Given the description of an element on the screen output the (x, y) to click on. 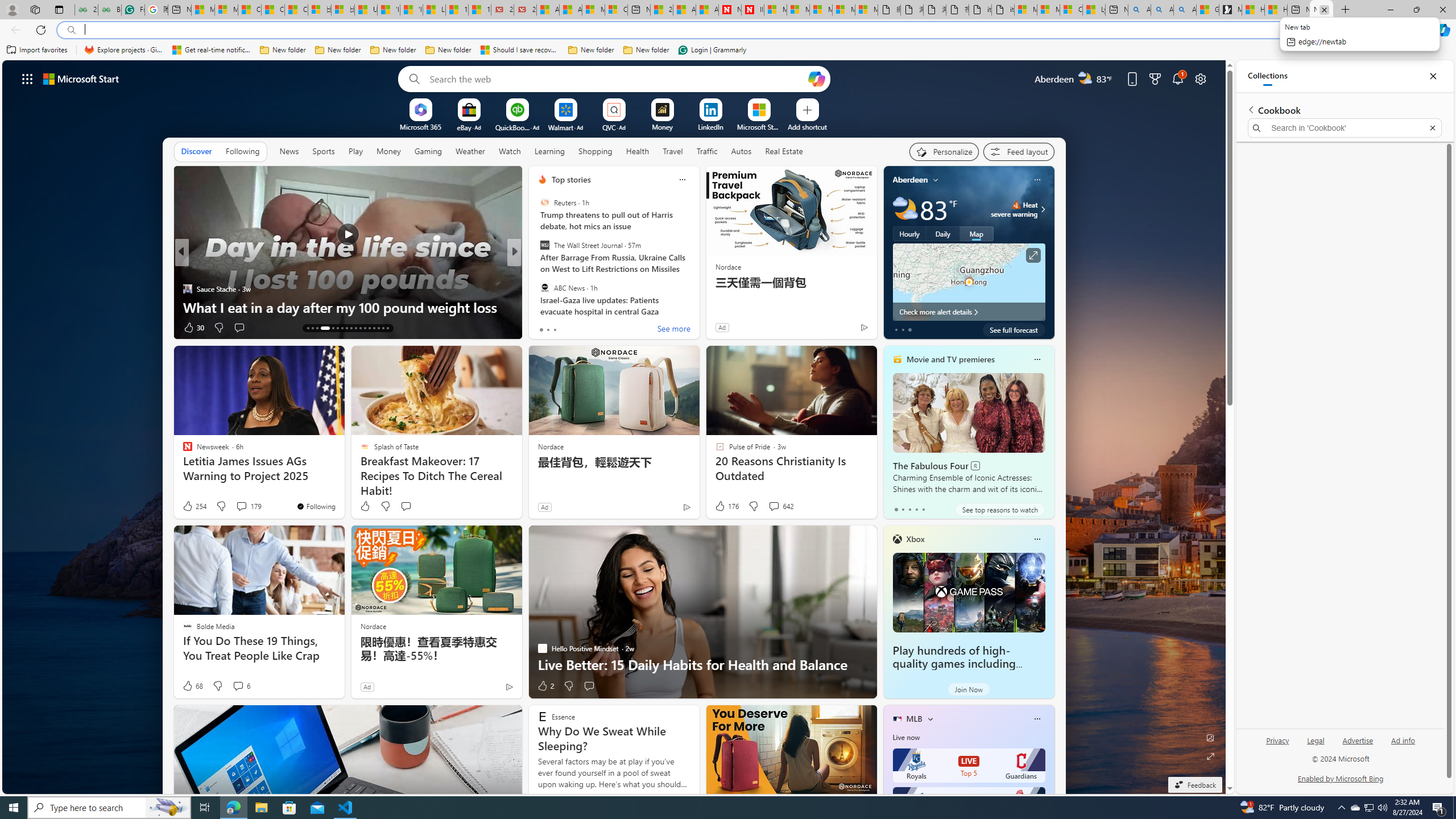
AutomationID: tab-27 (378, 328)
38 Like (543, 327)
9 Like (541, 327)
68 Amazingly Quick Dinners To Make Busy Weeknights A Breeze (697, 298)
itconcepthk.com/projector_solutions.mp4 (1003, 9)
Ad Choice (508, 686)
Personalize your feed" (943, 151)
View comments 6 Comment (237, 685)
Delish (537, 270)
